Given the description of an element on the screen output the (x, y) to click on. 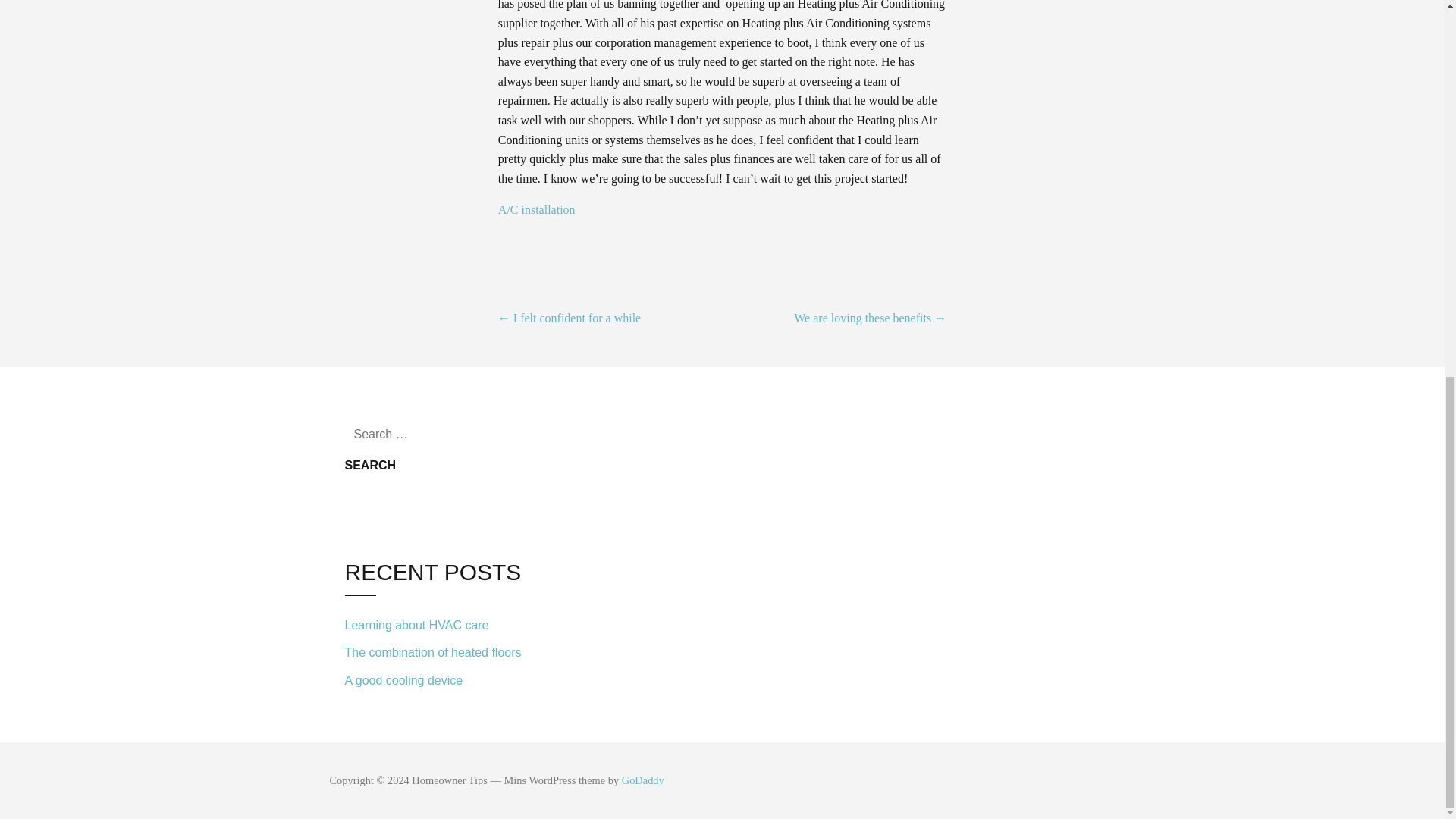
The combination of heated floors (447, 653)
A good cooling device (447, 679)
Search (369, 465)
GoDaddy (642, 779)
Learning about HVAC care (447, 624)
Search (369, 465)
Search (369, 465)
